Given the description of an element on the screen output the (x, y) to click on. 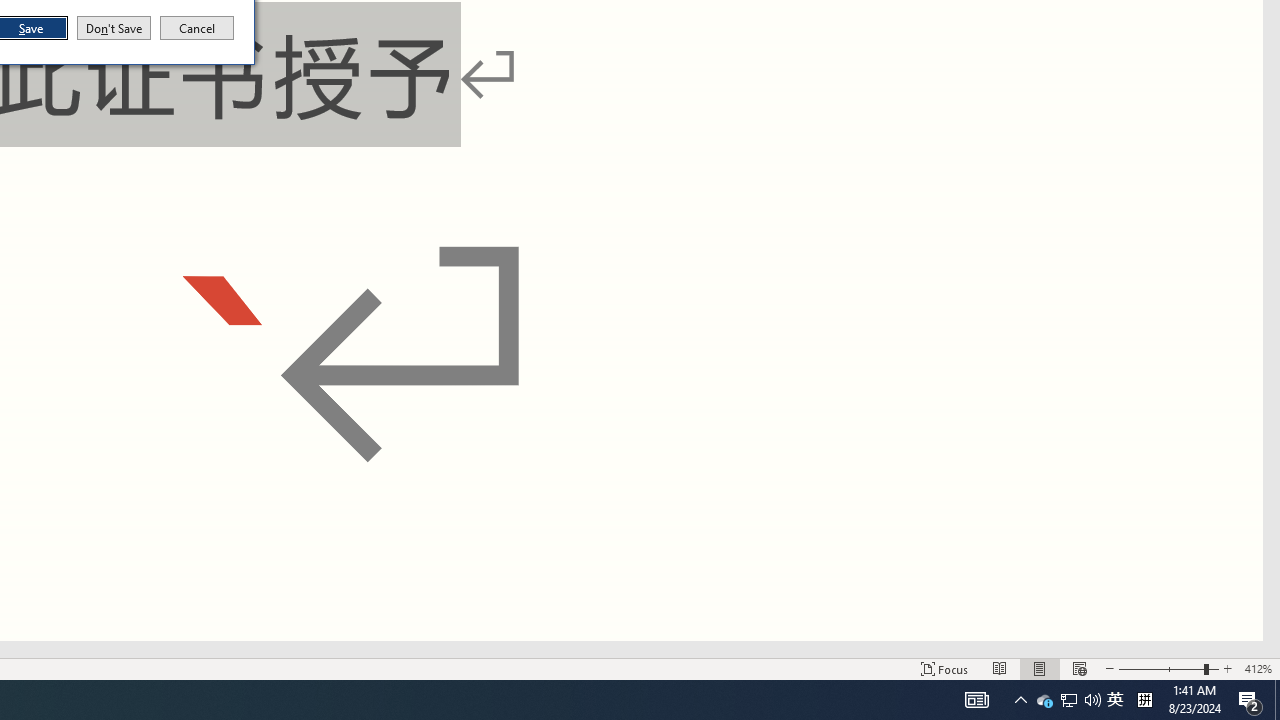
Q2790: 100% (1092, 699)
Show desktop (1277, 699)
Tray Input Indicator - Chinese (Simplified, China) (1144, 699)
Notification Chevron (1020, 699)
